Given the description of an element on the screen output the (x, y) to click on. 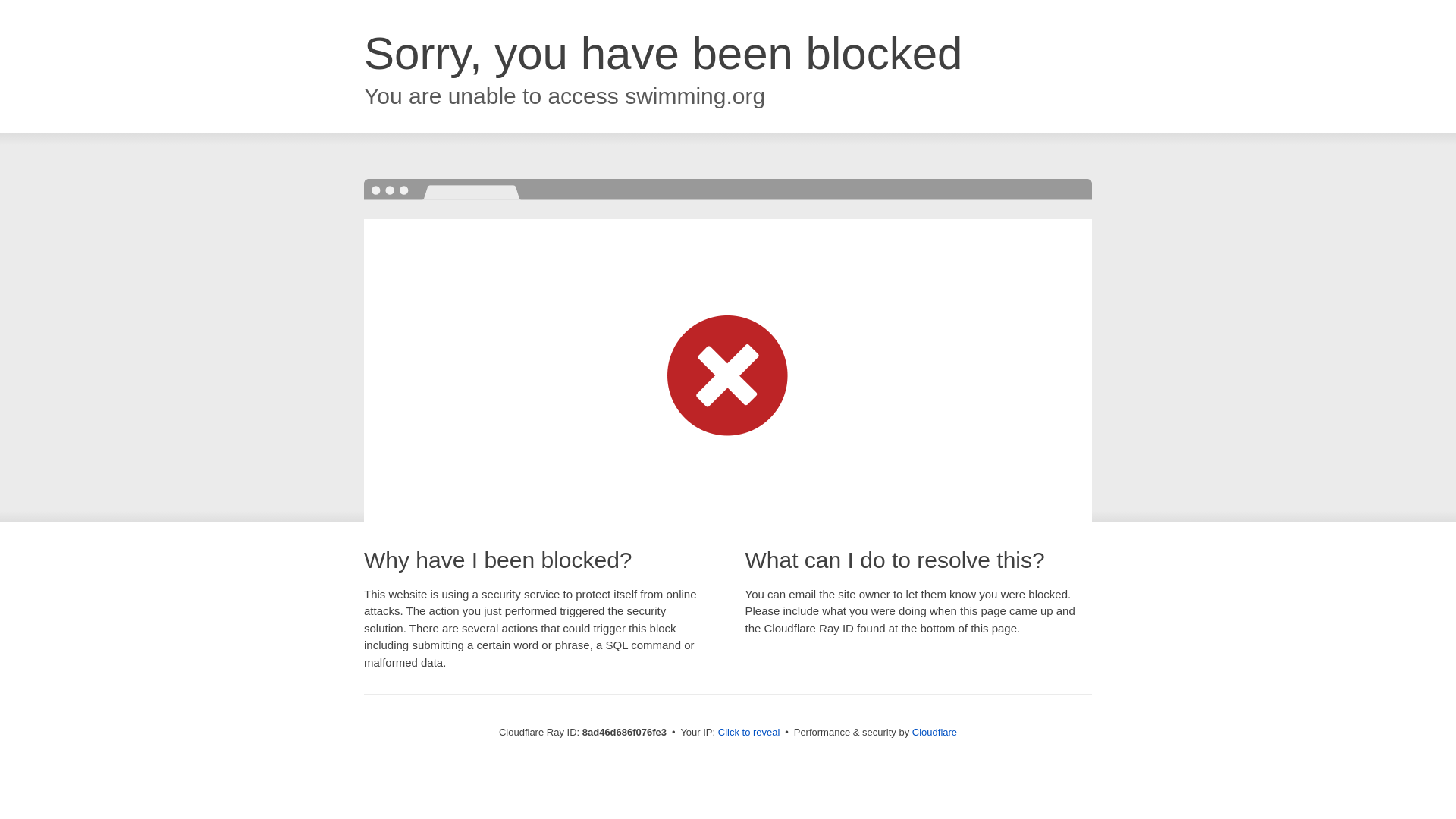
Cloudflare (934, 731)
Click to reveal (748, 732)
